Given the description of an element on the screen output the (x, y) to click on. 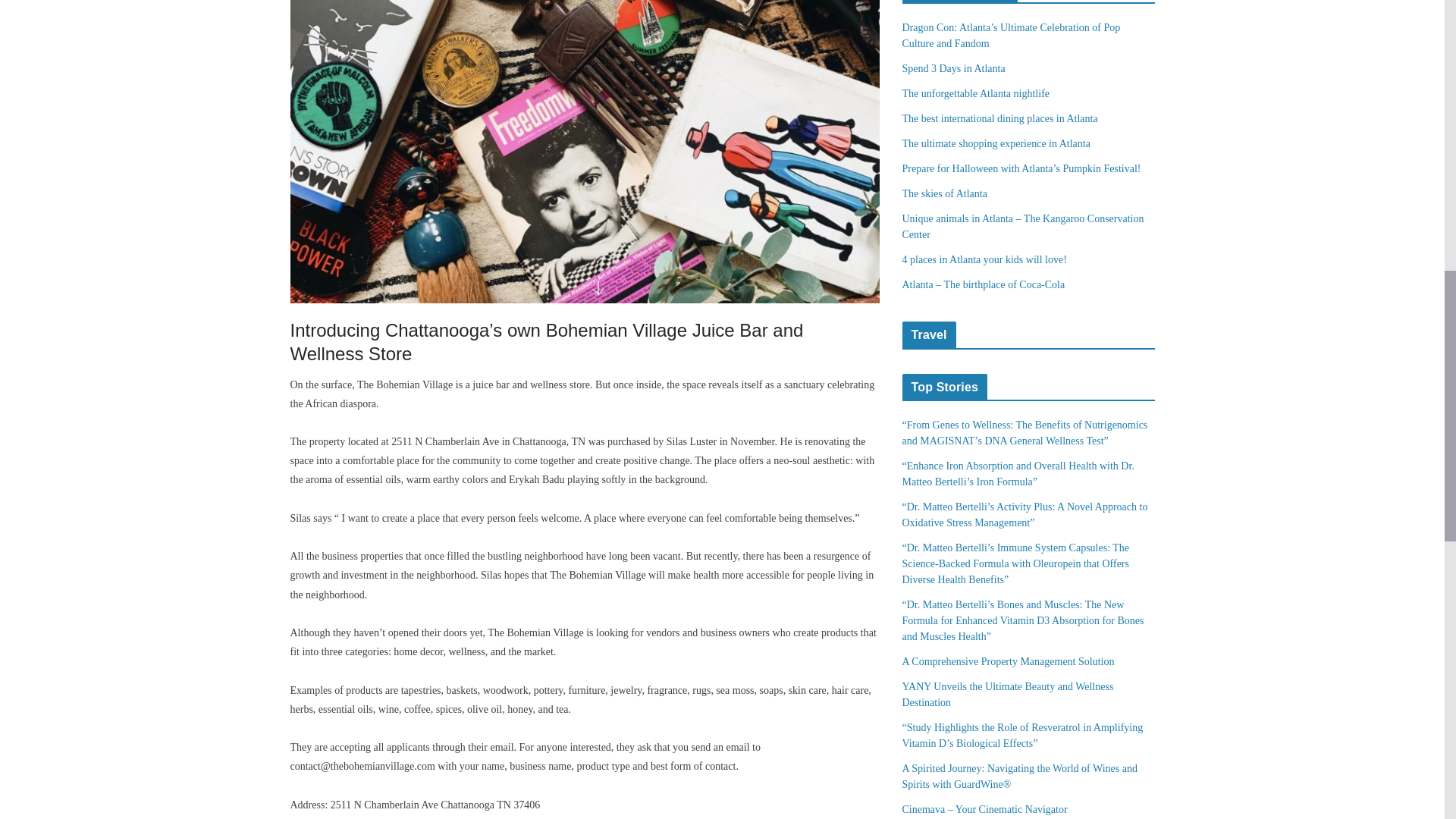
The unforgettable Atlanta nightlife (975, 93)
Spend 3 Days in Atlanta (954, 68)
The skies of Atlanta (944, 193)
The best international dining places in Atlanta (999, 118)
YANY Unveils the Ultimate Beauty and Wellness Destination (1007, 694)
The ultimate shopping experience in Atlanta (996, 143)
A Comprehensive Property Management Solution (1008, 661)
4 places in Atlanta your kids will love! (984, 259)
